Given the description of an element on the screen output the (x, y) to click on. 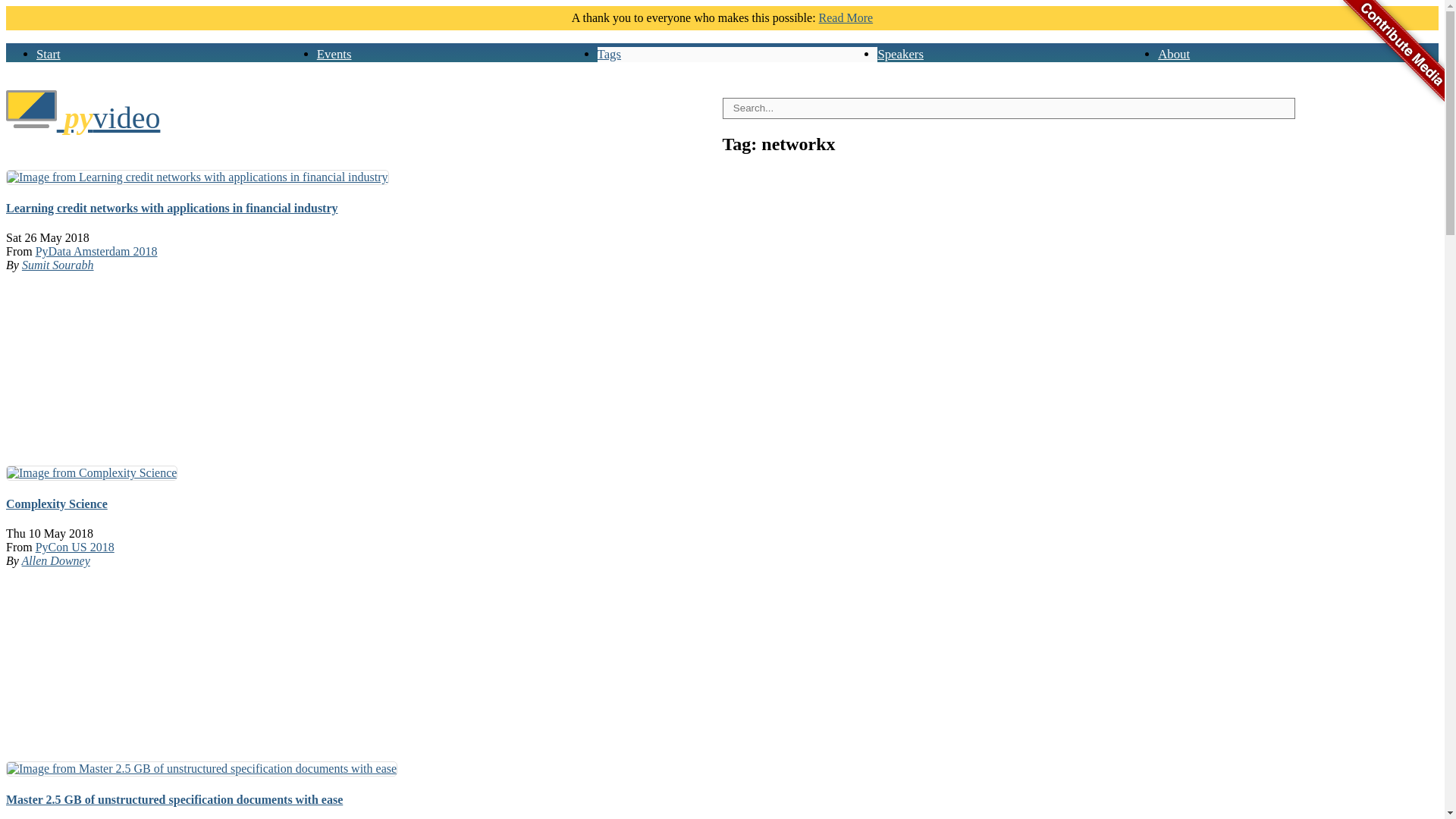
Start (48, 53)
Tags (608, 53)
Complexity Science (56, 503)
PyData Amsterdam 2018 (95, 250)
Speakers (900, 53)
About (1173, 53)
Read More (845, 17)
